Given the description of an element on the screen output the (x, y) to click on. 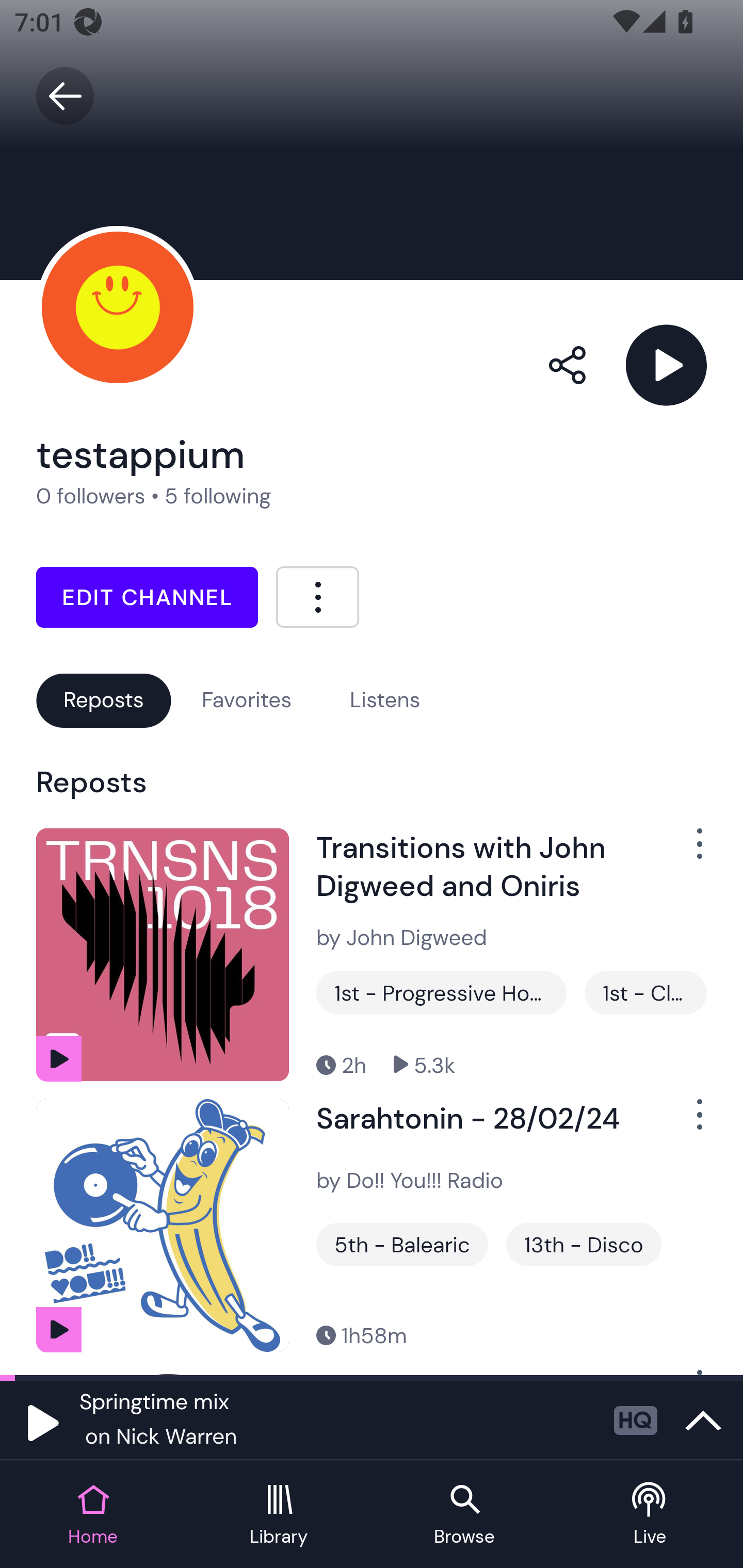
0 followers (90, 495)
5 following (217, 495)
More Menu (317, 596)
Edit Channel EDIT CHANNEL (146, 597)
Reposts (103, 699)
Favorites (246, 699)
Listens (384, 699)
Show Options Menu Button (688, 850)
1st - Progressive House (441, 992)
1st - Club (645, 992)
Show Options Menu Button (688, 1122)
5th - Balearic (402, 1244)
13th - Disco (583, 1244)
Home tab Home (92, 1515)
Library tab Library (278, 1515)
Browse tab Browse (464, 1515)
Live tab Live (650, 1515)
